Given the description of an element on the screen output the (x, y) to click on. 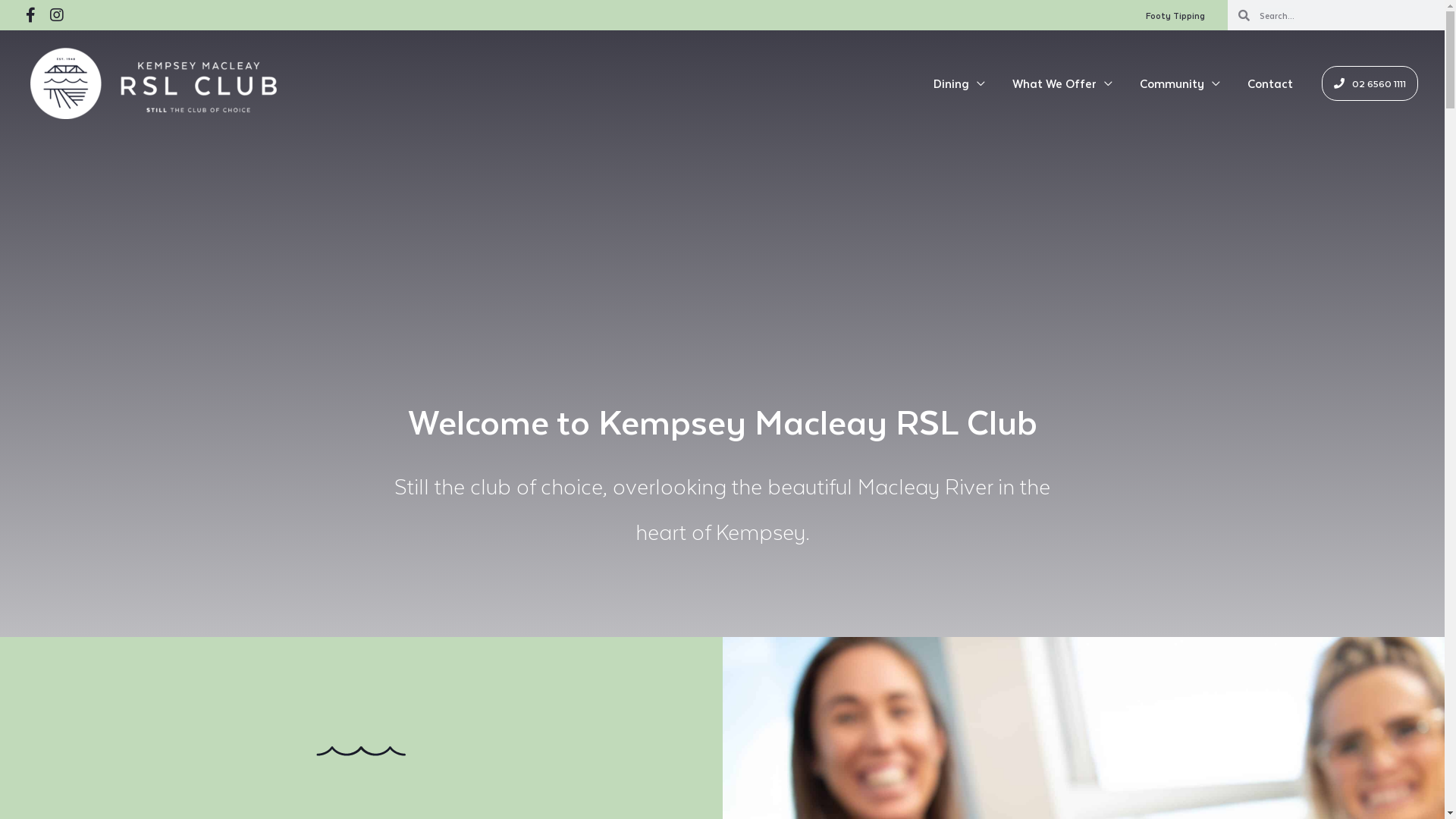
Contact Element type: text (1269, 82)
02 6560 1111 Element type: text (1369, 82)
Footy Tipping Element type: text (1175, 15)
What We Offer Element type: text (1062, 82)
Community Element type: text (1179, 82)
Dining Element type: text (958, 82)
